Given the description of an element on the screen output the (x, y) to click on. 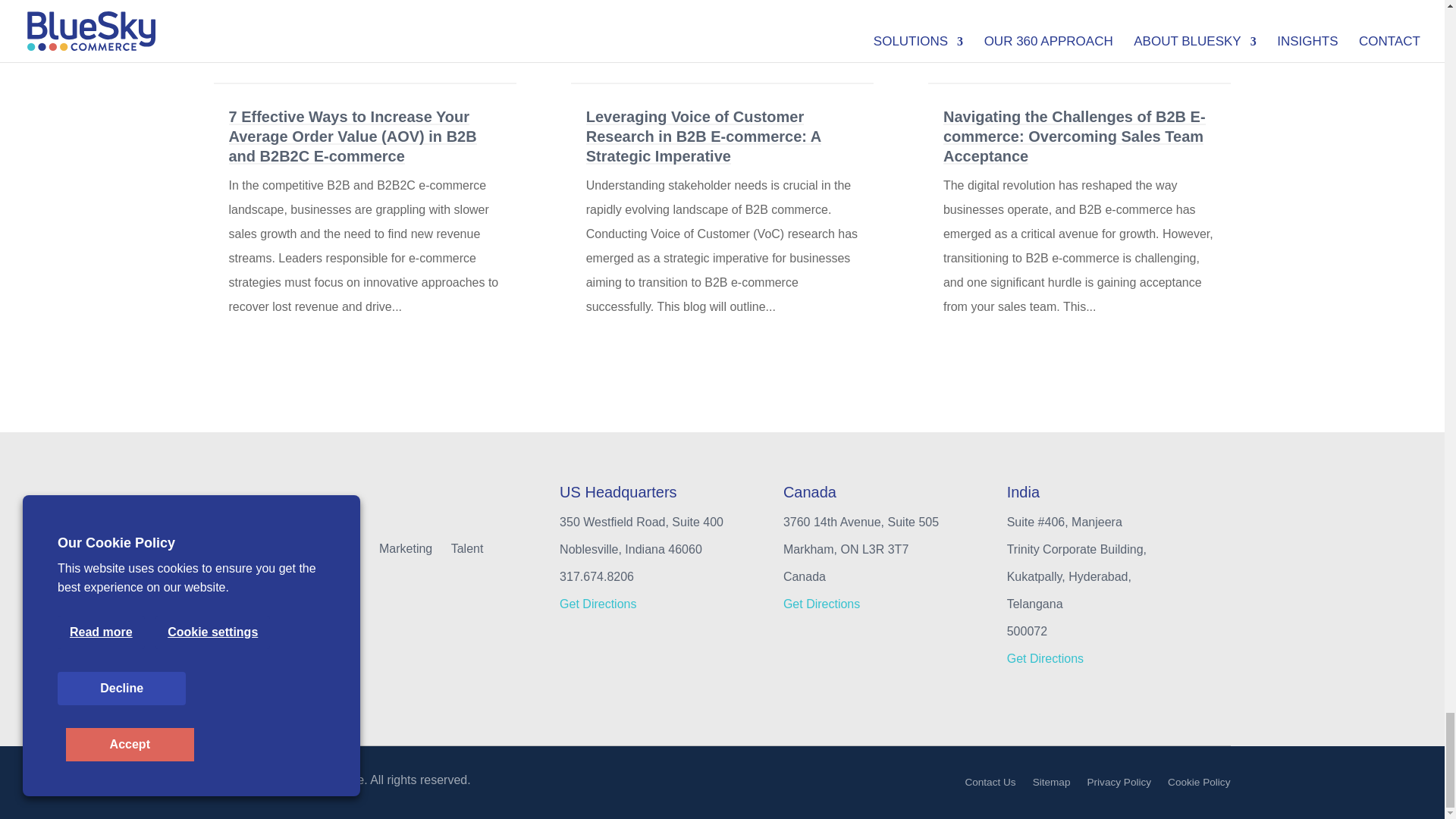
Follow on Instagram (279, 579)
Follow on X (250, 579)
Follow on Facebook (219, 579)
BlueSky Commerce (289, 506)
Follow on LinkedIn (310, 579)
Follow on Youtube (341, 579)
